Given the description of an element on the screen output the (x, y) to click on. 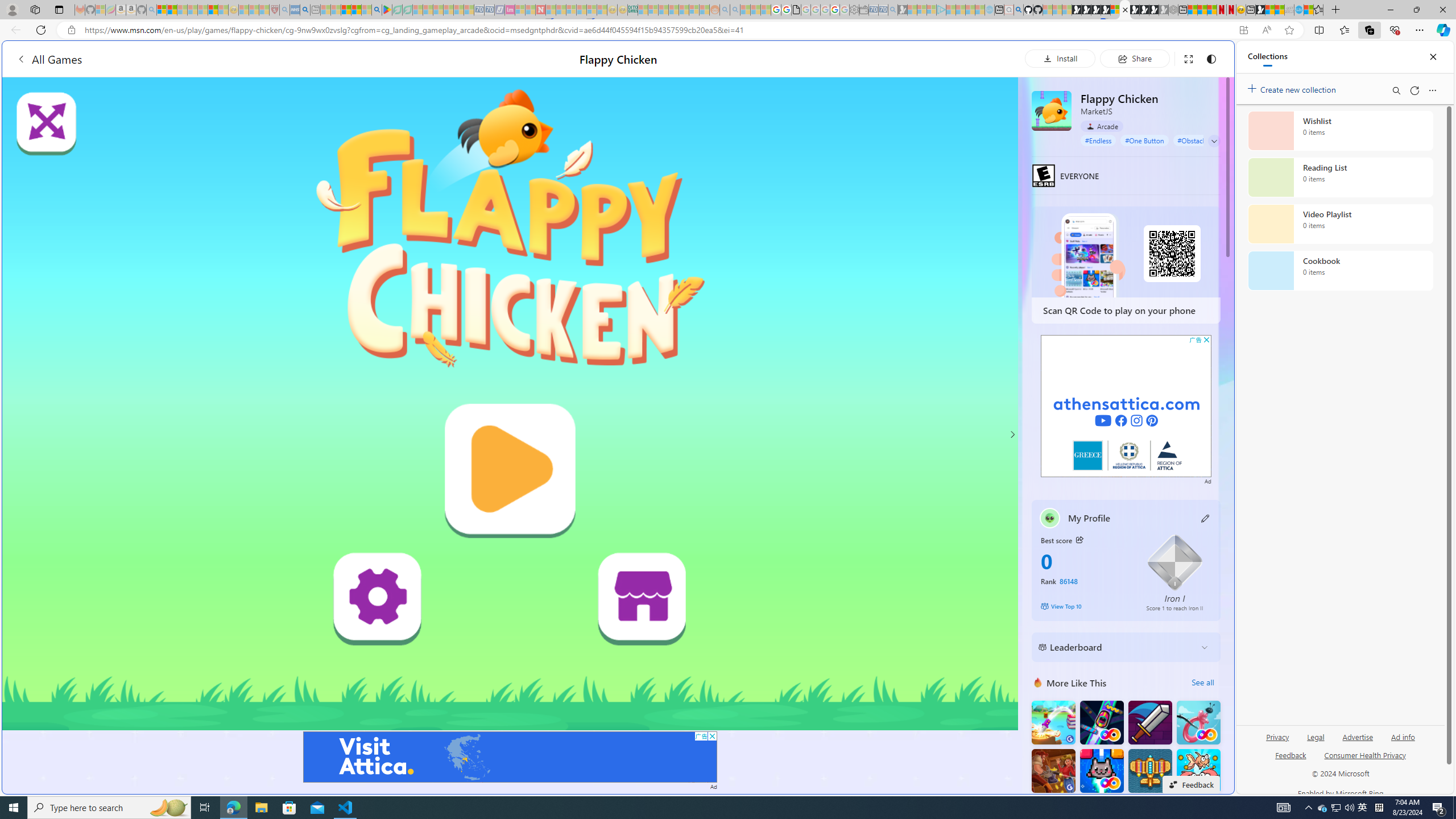
Pets - MSN (356, 9)
github - Search (1018, 9)
Video Playlist collection, 0 items (1339, 223)
